Given the description of an element on the screen output the (x, y) to click on. 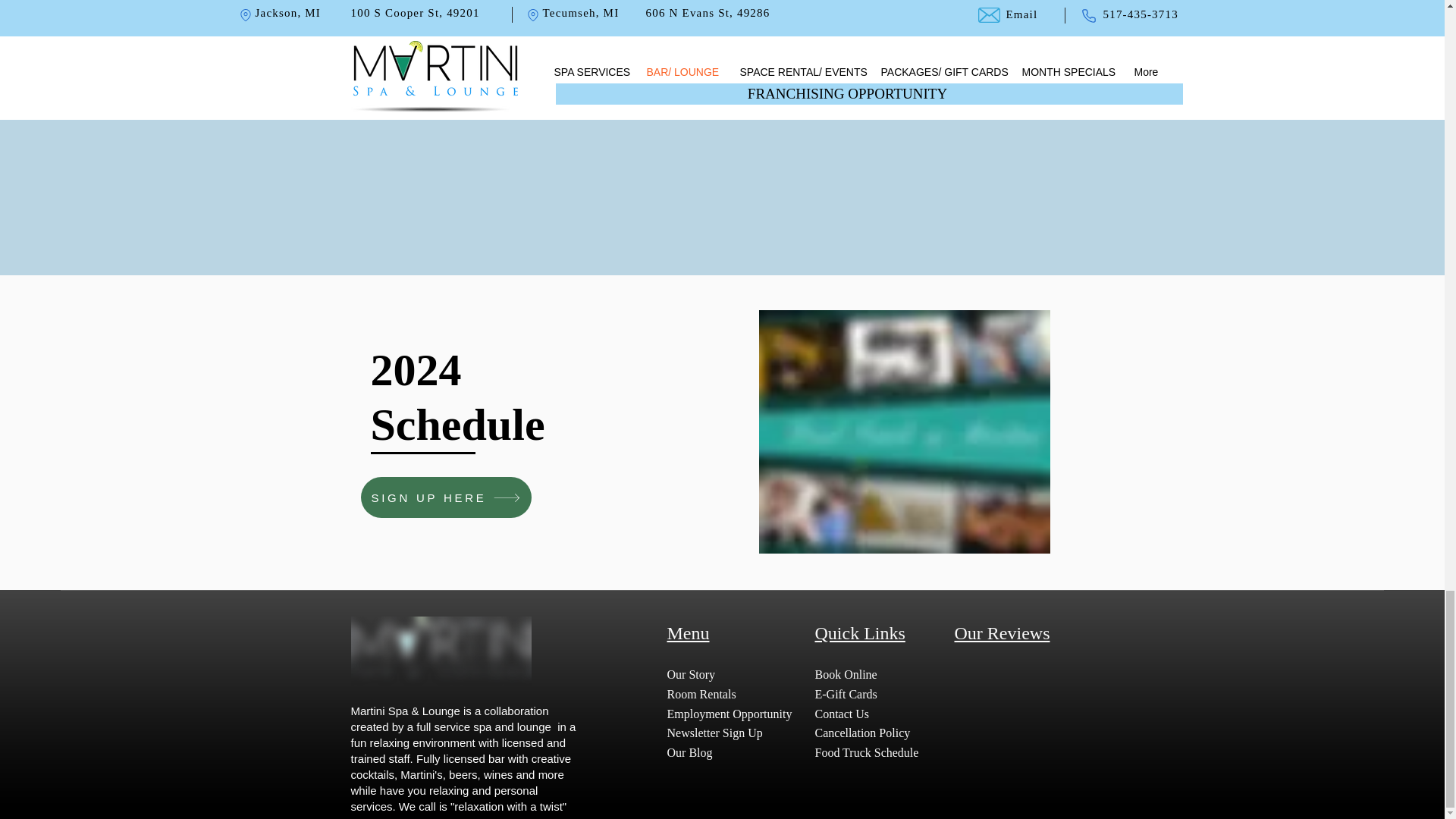
E-Gift Card (842, 694)
Book Online  (846, 674)
Our Reviews (1001, 632)
SIGN UP HERE (446, 496)
Our Story (691, 674)
Menu (688, 632)
Room Rentals (701, 694)
Employment Opportunity (729, 713)
Cancellation Policy (861, 732)
Quick Links (858, 632)
